Given the description of an element on the screen output the (x, y) to click on. 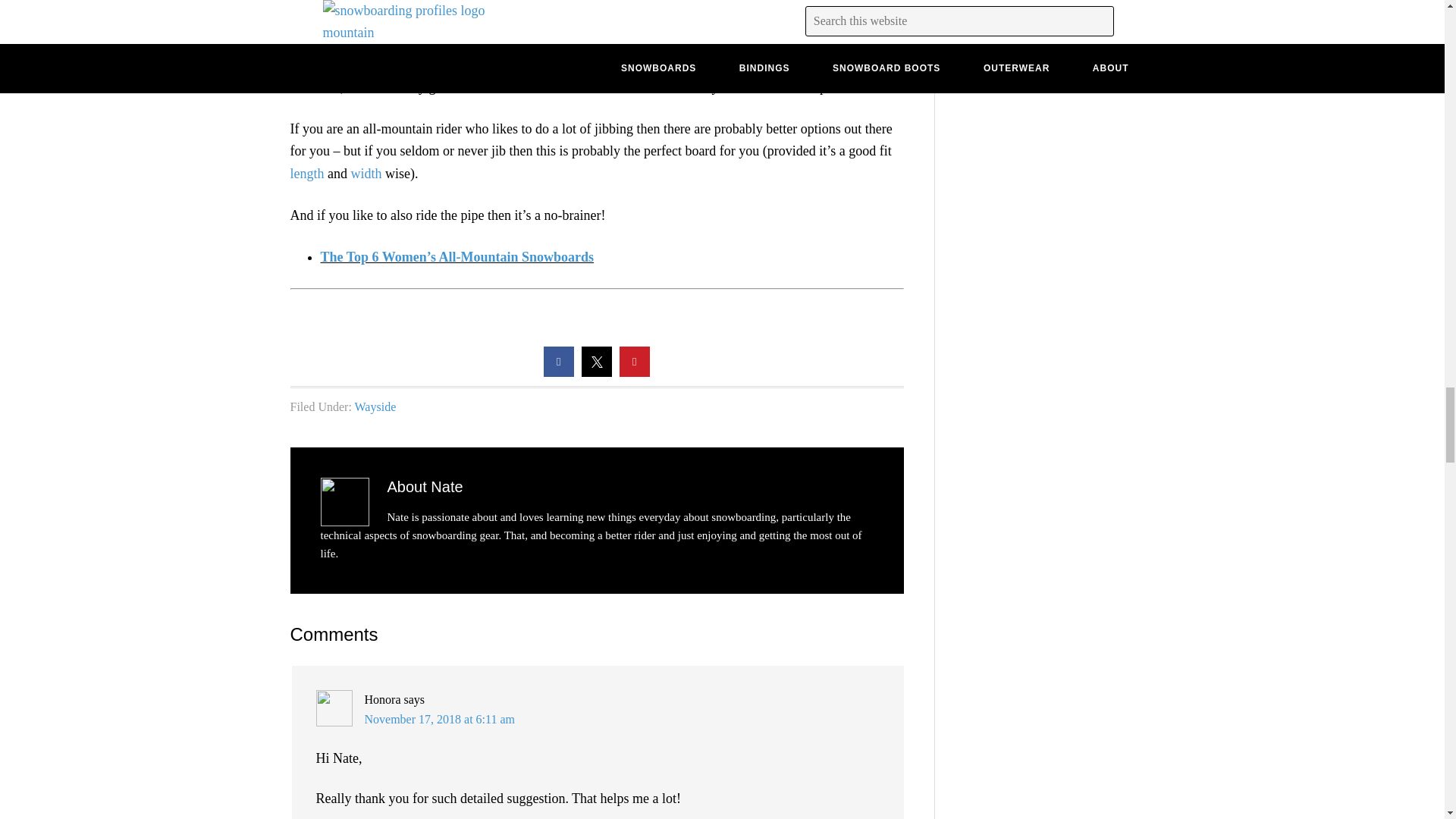
Share on Twitter (595, 372)
Share on Pinterest (634, 372)
Share on Facebook (558, 372)
